Given the description of an element on the screen output the (x, y) to click on. 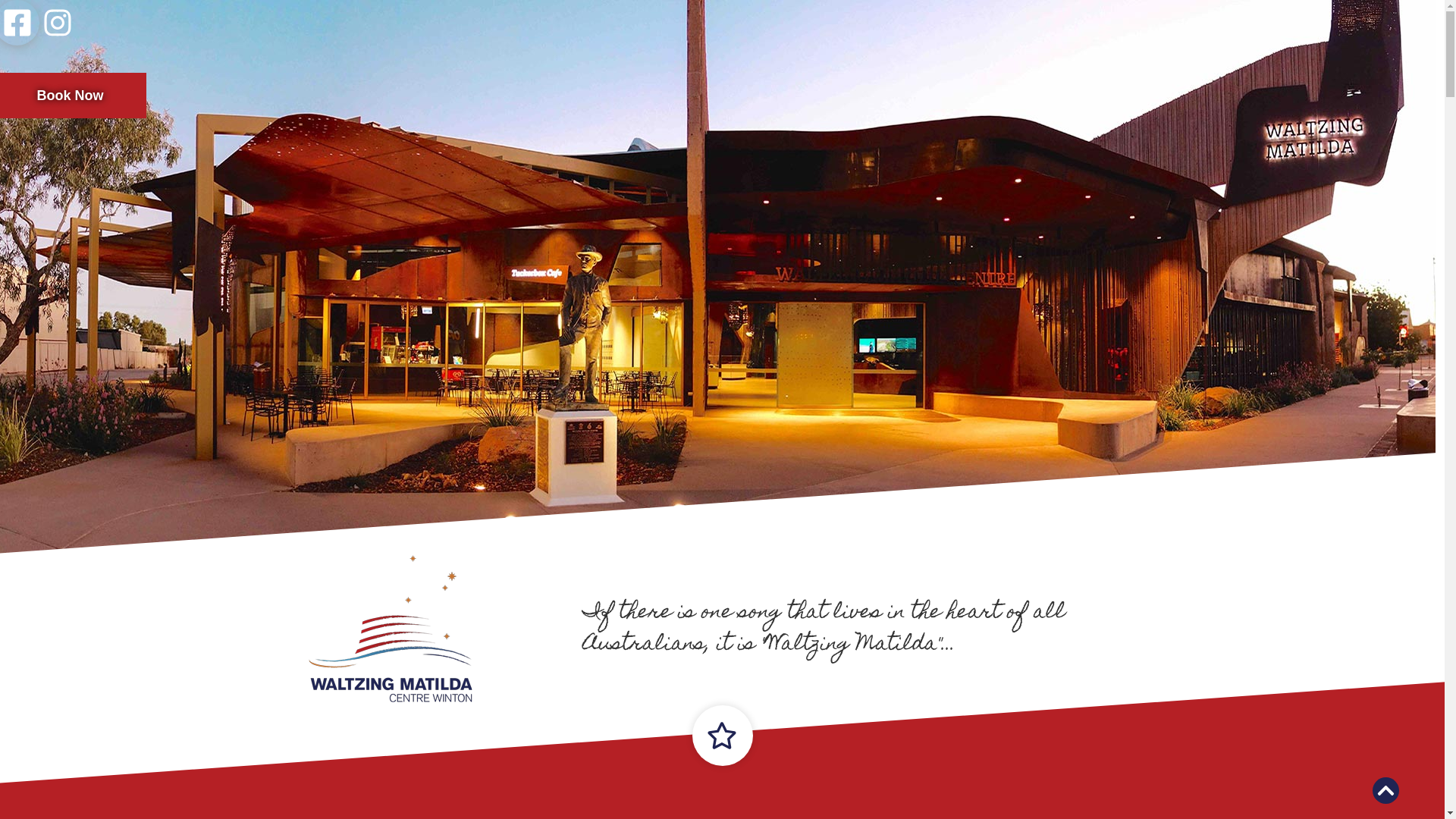
Back to the top Element type: text (1385, 790)
